Given the description of an element on the screen output the (x, y) to click on. 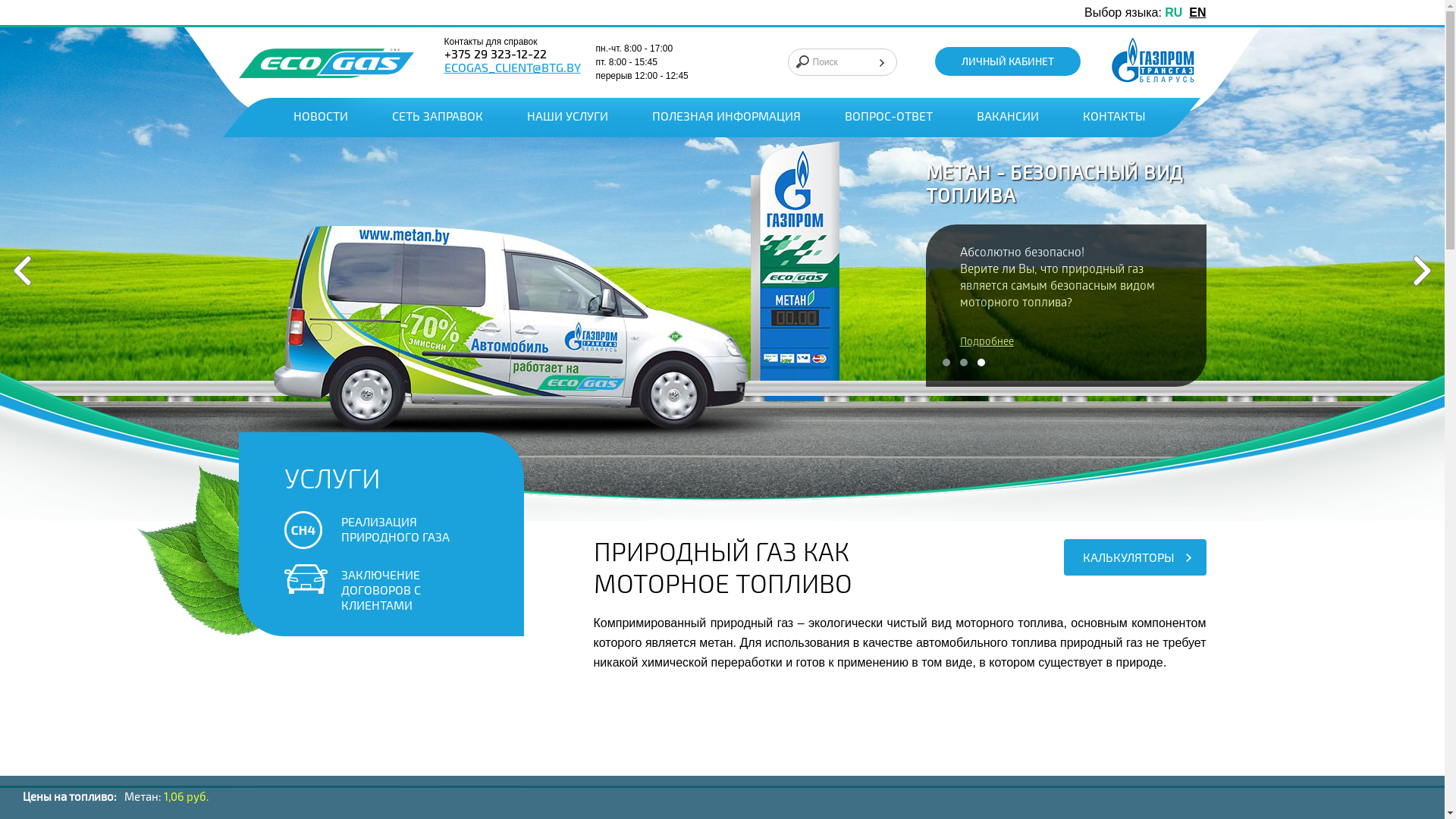
ECOGAS_CLIENT@BTG.BY Element type: text (512, 68)
+375 29 323-12-22 Element type: text (495, 55)
EN Element type: text (1197, 12)
RU Element type: text (1173, 12)
